Given the description of an element on the screen output the (x, y) to click on. 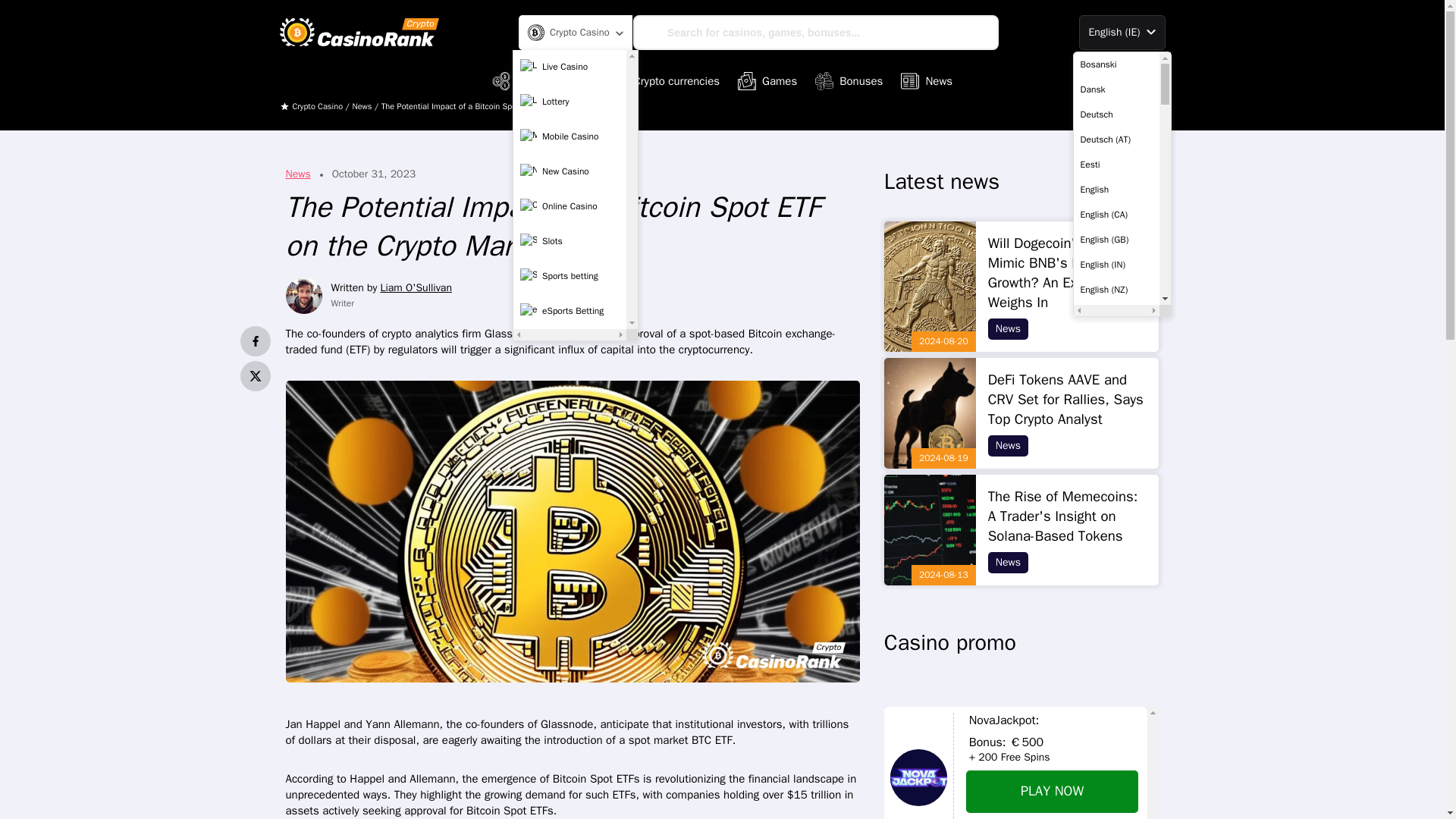
Lottery (569, 102)
Hrvatski (1116, 664)
eSports Betting (569, 311)
Slots (569, 241)
Dansk (1116, 89)
English (1116, 189)
New Casino (569, 172)
Bosanski (1116, 63)
Sports betting (569, 276)
Live Casino (569, 67)
